Given the description of an element on the screen output the (x, y) to click on. 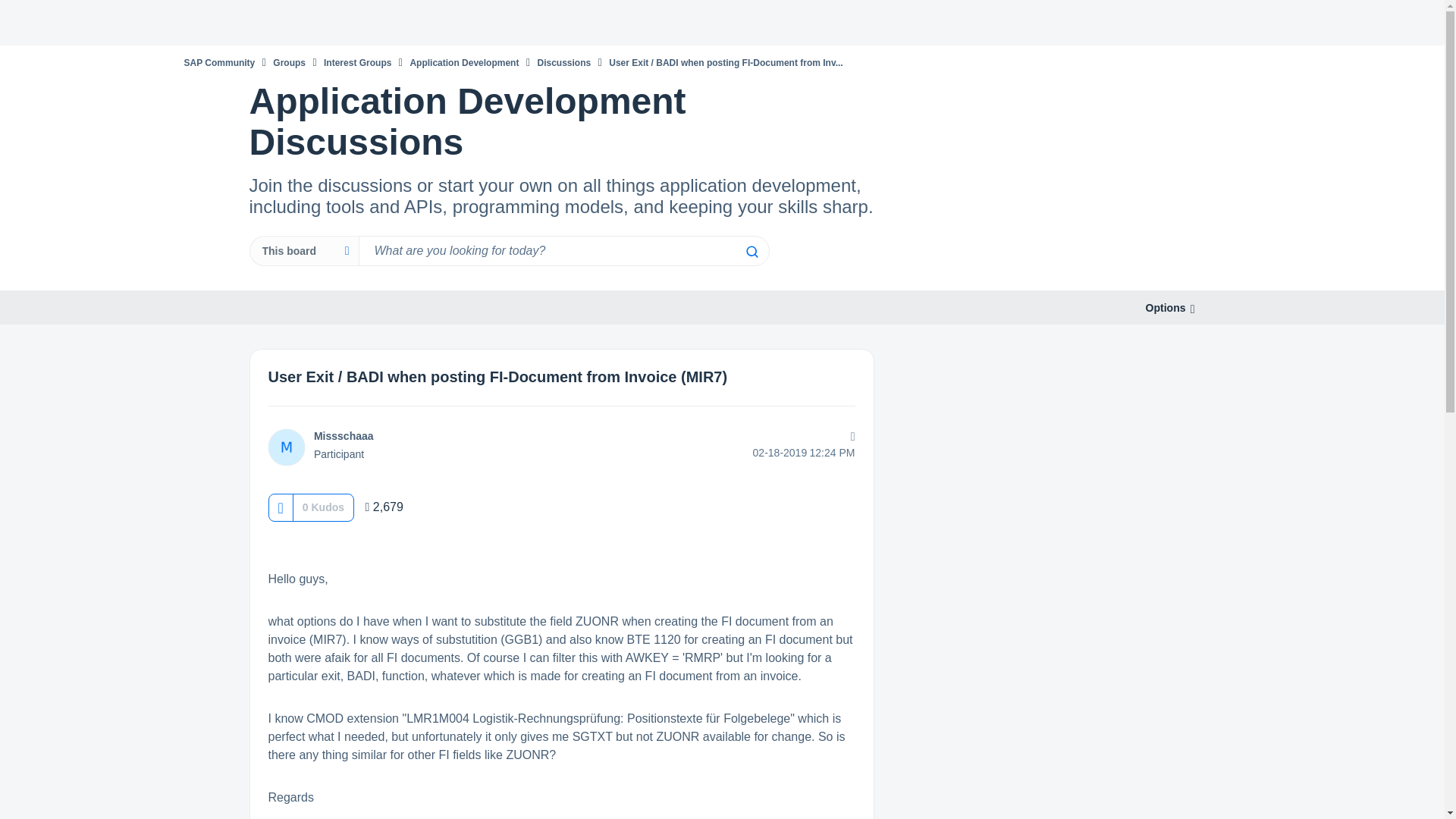
Show option menu (1165, 307)
Search (563, 250)
Search (750, 251)
Discussions (564, 62)
SAP Community (218, 62)
Missschaaa (344, 435)
Options (1165, 307)
Groups (289, 62)
Click here to give kudos to this post. (279, 507)
The total number of kudos this post has received. (323, 507)
Search (750, 251)
Search Granularity (303, 250)
Search (750, 251)
Interest Groups (357, 62)
Application Development (463, 62)
